Given the description of an element on the screen output the (x, y) to click on. 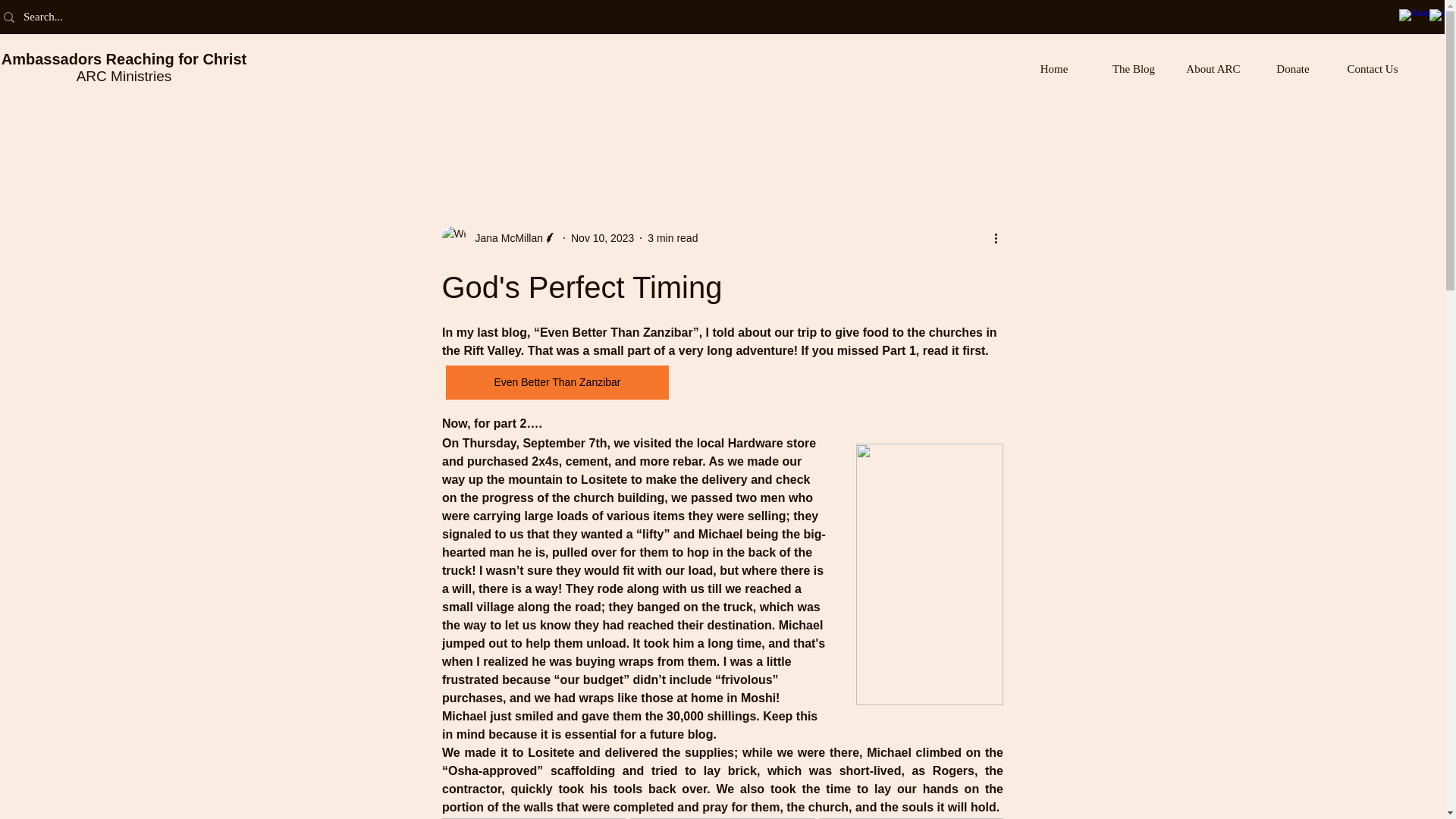
ARC Ministries (124, 75)
The Blog (1133, 68)
Home (1054, 68)
Even Better Than Zanzibar (556, 382)
Nov 10, 2023 (601, 237)
Ambassadors Reaching for Christ (123, 58)
3 min read (672, 237)
Contact Us (1372, 68)
Donate (1292, 68)
Jana McMillan (503, 238)
